Given the description of an element on the screen output the (x, y) to click on. 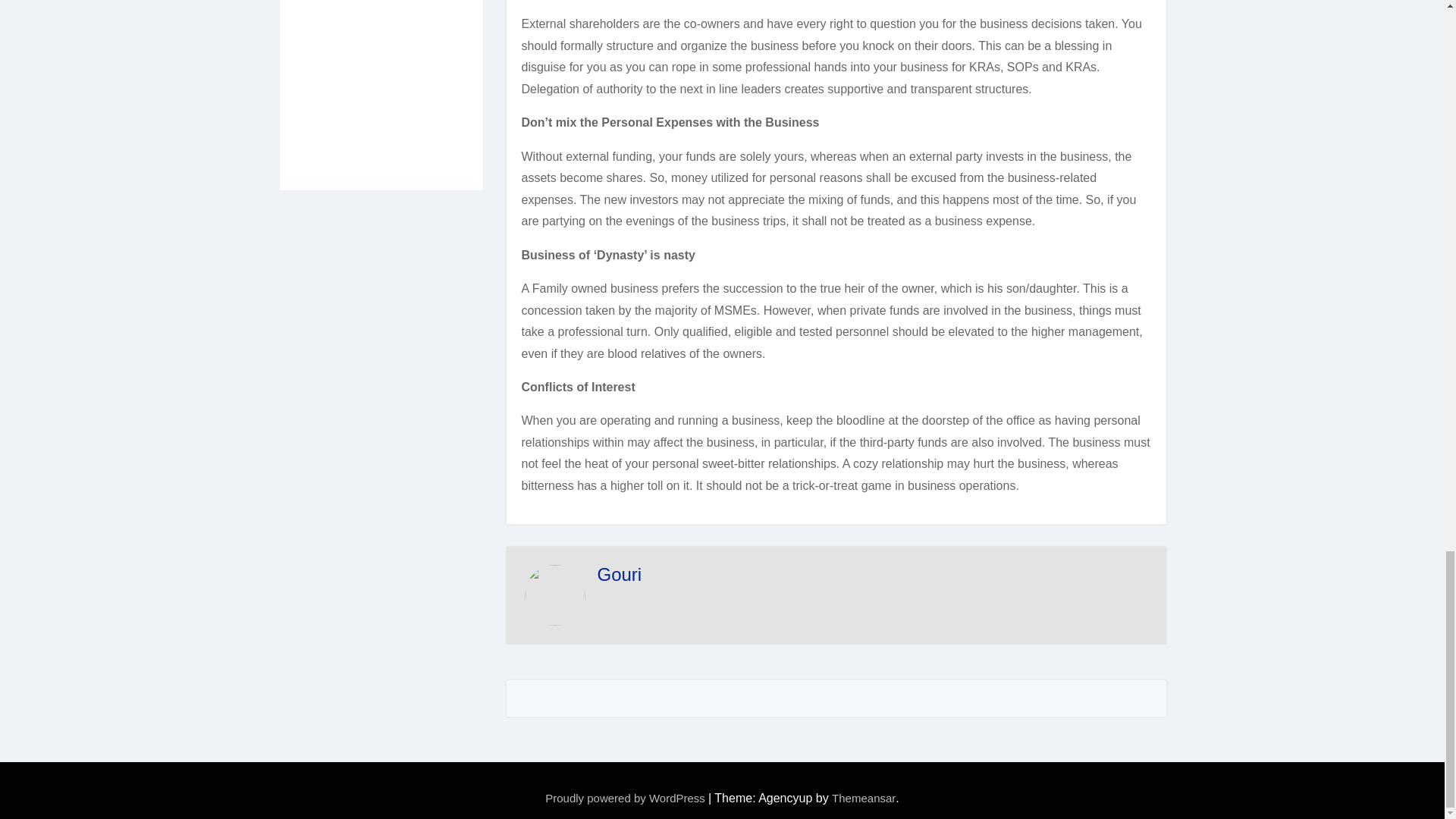
Gouri (619, 574)
